Given the description of an element on the screen output the (x, y) to click on. 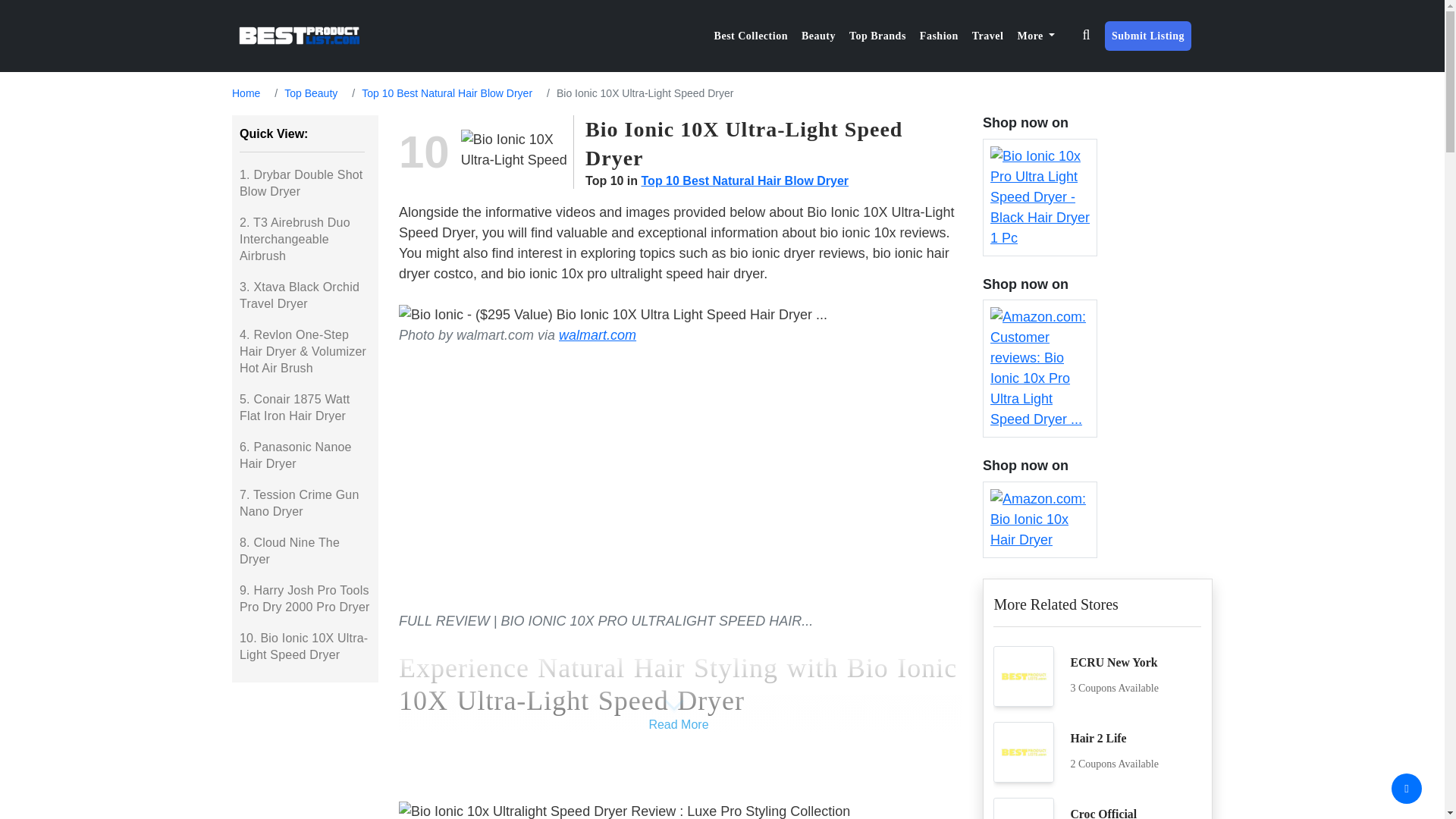
Top 10 Best Natural Hair Blow Dryer (446, 92)
Fashion (938, 35)
Bio Ionic 10X Ultra-Light Speed Dryer (517, 152)
5. Conair 1875 Watt Flat Iron Hair Dryer (305, 408)
Travel (987, 35)
7. Tession Crime Gun Nano Dryer (305, 503)
1. Drybar Double Shot Blow Dryer (305, 183)
9. Harry Josh Pro Tools Pro Dry 2000 Pro Dryer (305, 598)
Home (245, 92)
